Given the description of an element on the screen output the (x, y) to click on. 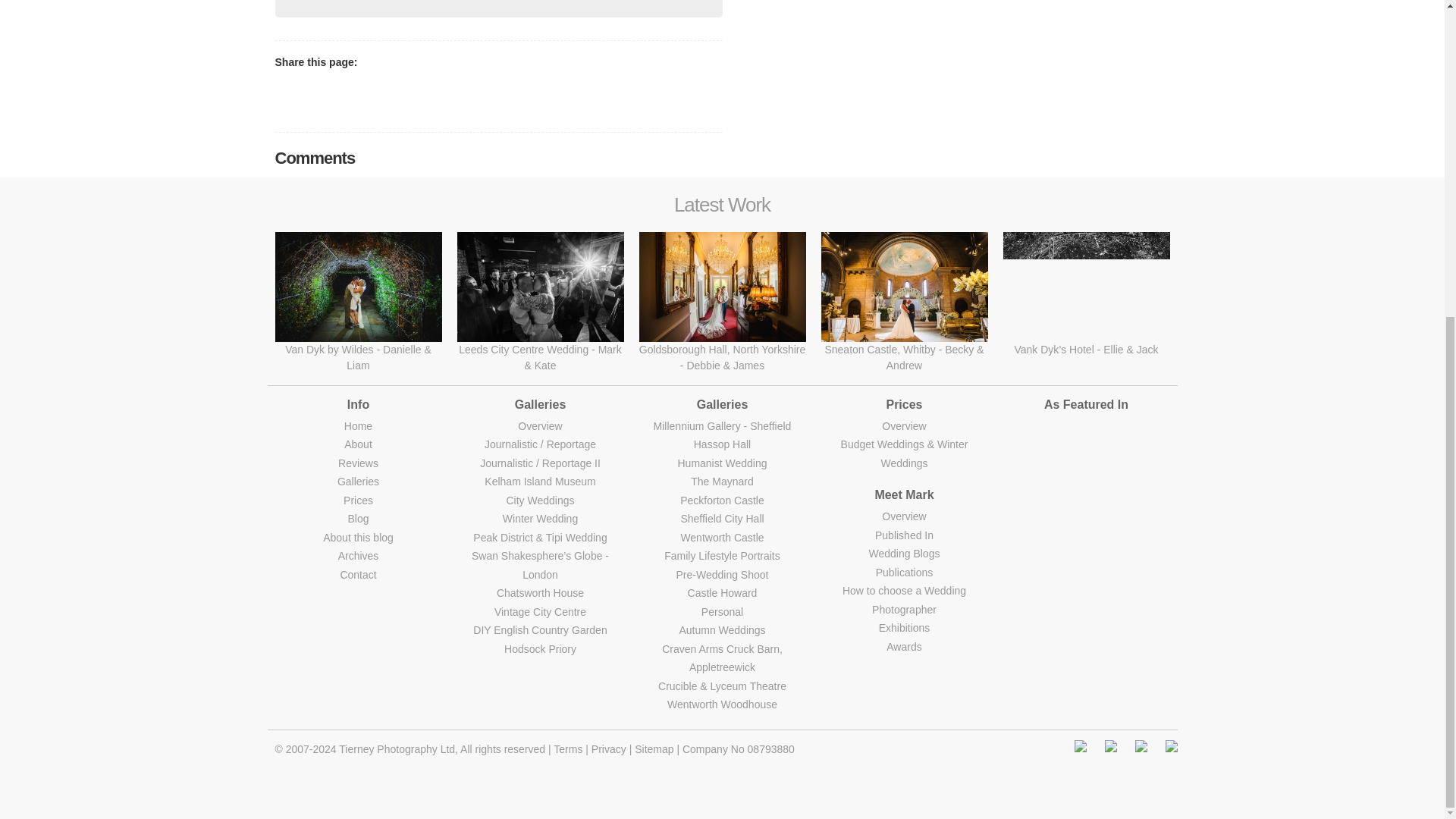
Follow me on Instagram (1080, 746)
Made by Bridge (722, 795)
Join my Facebook Group (1141, 746)
Connect with me on LinkedIn (1110, 746)
Follow me on Twitter (1170, 746)
